Given the description of an element on the screen output the (x, y) to click on. 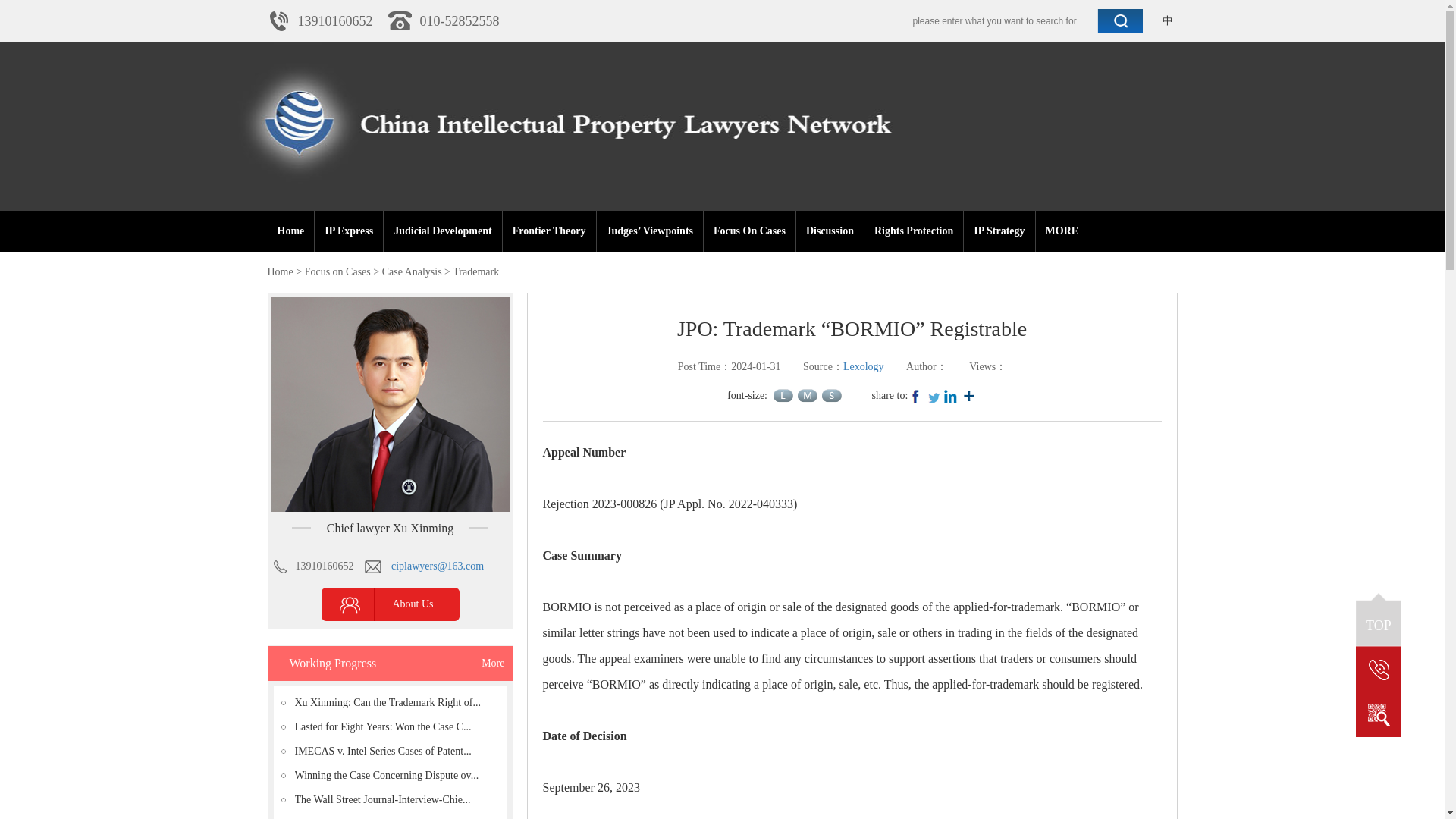
Case Analysis (411, 271)
facebook (915, 395)
linkedin (950, 395)
twitter (933, 395)
More (968, 395)
Frontier Theory (549, 230)
About Us (397, 603)
Focus On Cases (749, 230)
Judicial Development (442, 230)
Trademark (475, 271)
Xu Xinming: Can the Trademark Right of... (396, 702)
Chief lawyer Xu Xinming (390, 527)
Discussion (829, 230)
IP Express (348, 230)
Focus on Cases (337, 271)
